Given the description of an element on the screen output the (x, y) to click on. 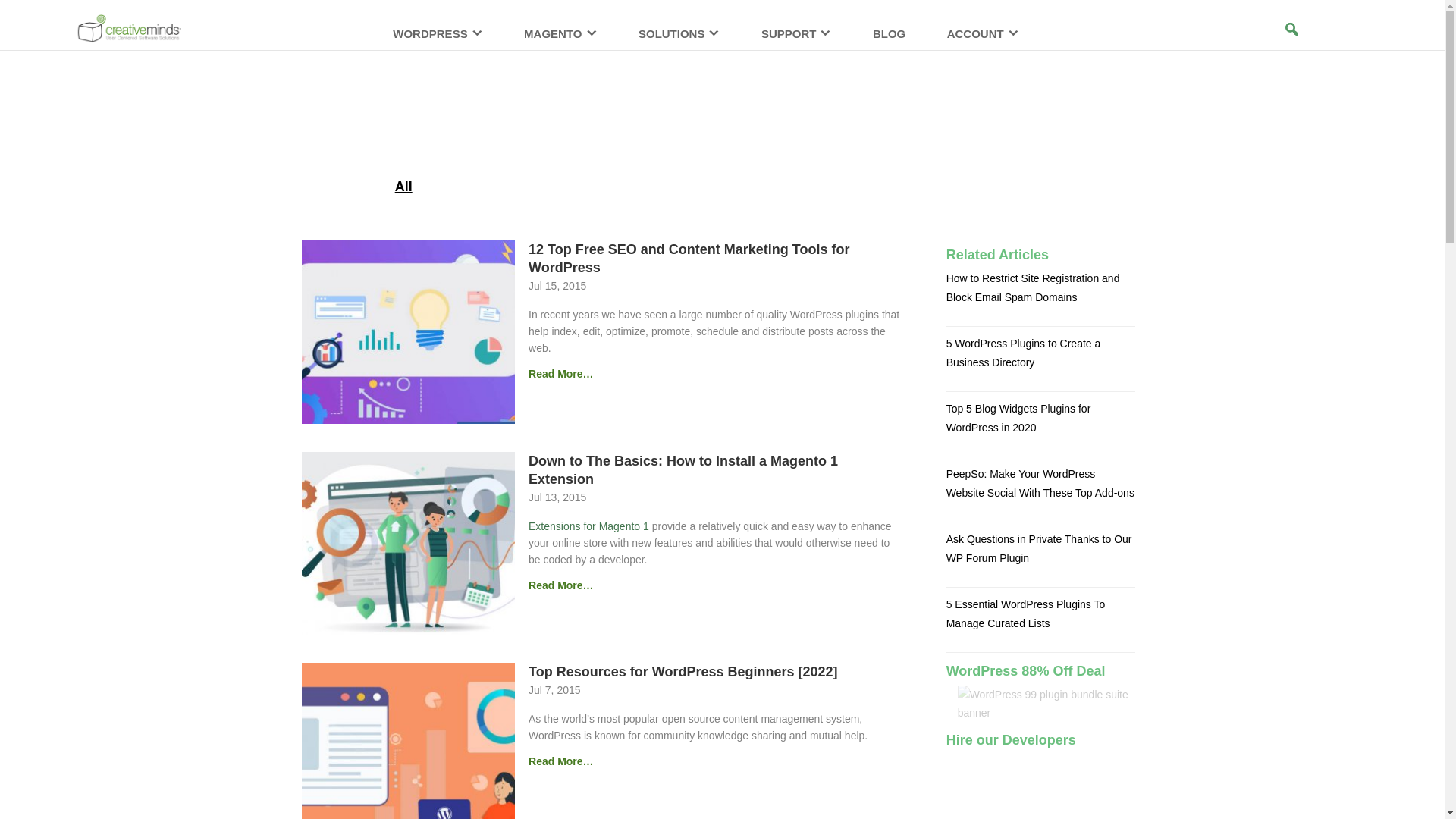
Magento (548, 186)
SOLUTIONS (679, 40)
Product Updates (952, 186)
CreativeMinds Blog (721, 101)
All (403, 186)
WordPress (469, 186)
Mobile (614, 186)
Research (681, 186)
SEO (744, 186)
WORDPRESS (437, 40)
Customer Stories (829, 186)
NLP (1035, 186)
BLOG (888, 40)
